Given the description of an element on the screen output the (x, y) to click on. 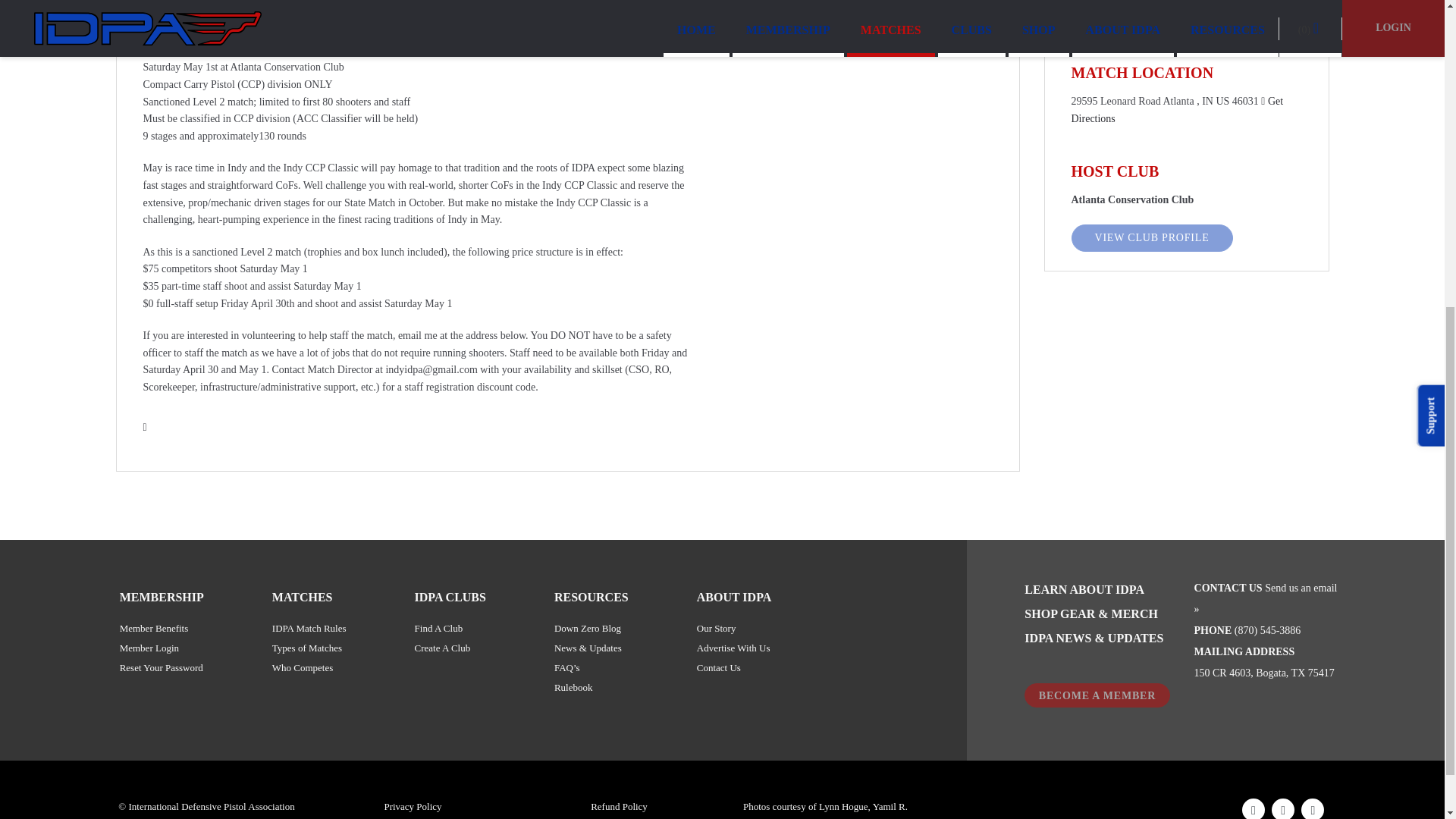
Toggle attribution (1307, 31)
